Given the description of an element on the screen output the (x, y) to click on. 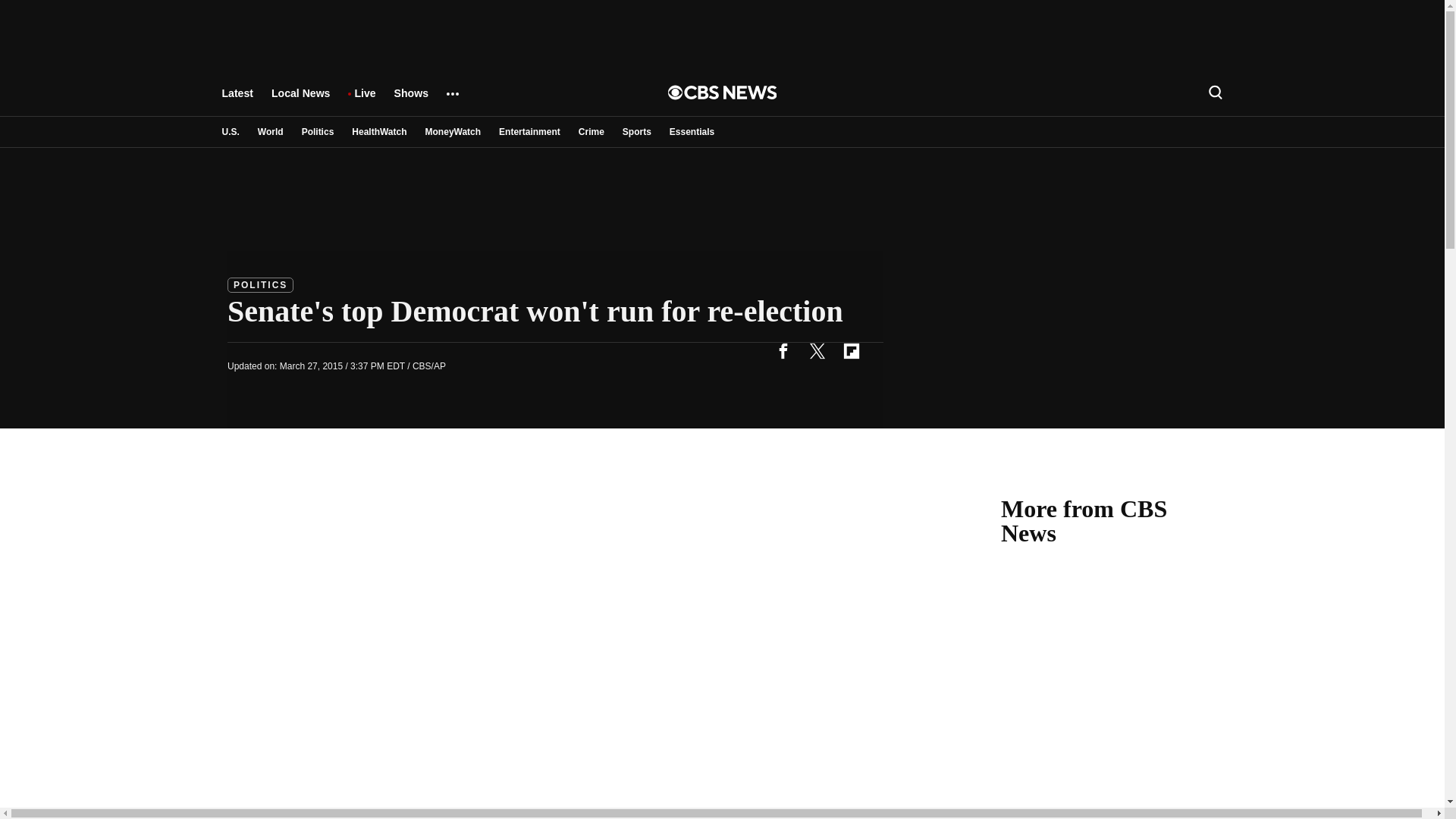
facebook (782, 350)
Local News (300, 100)
flipboard (850, 350)
twitter (816, 350)
Latest (236, 100)
